Given the description of an element on the screen output the (x, y) to click on. 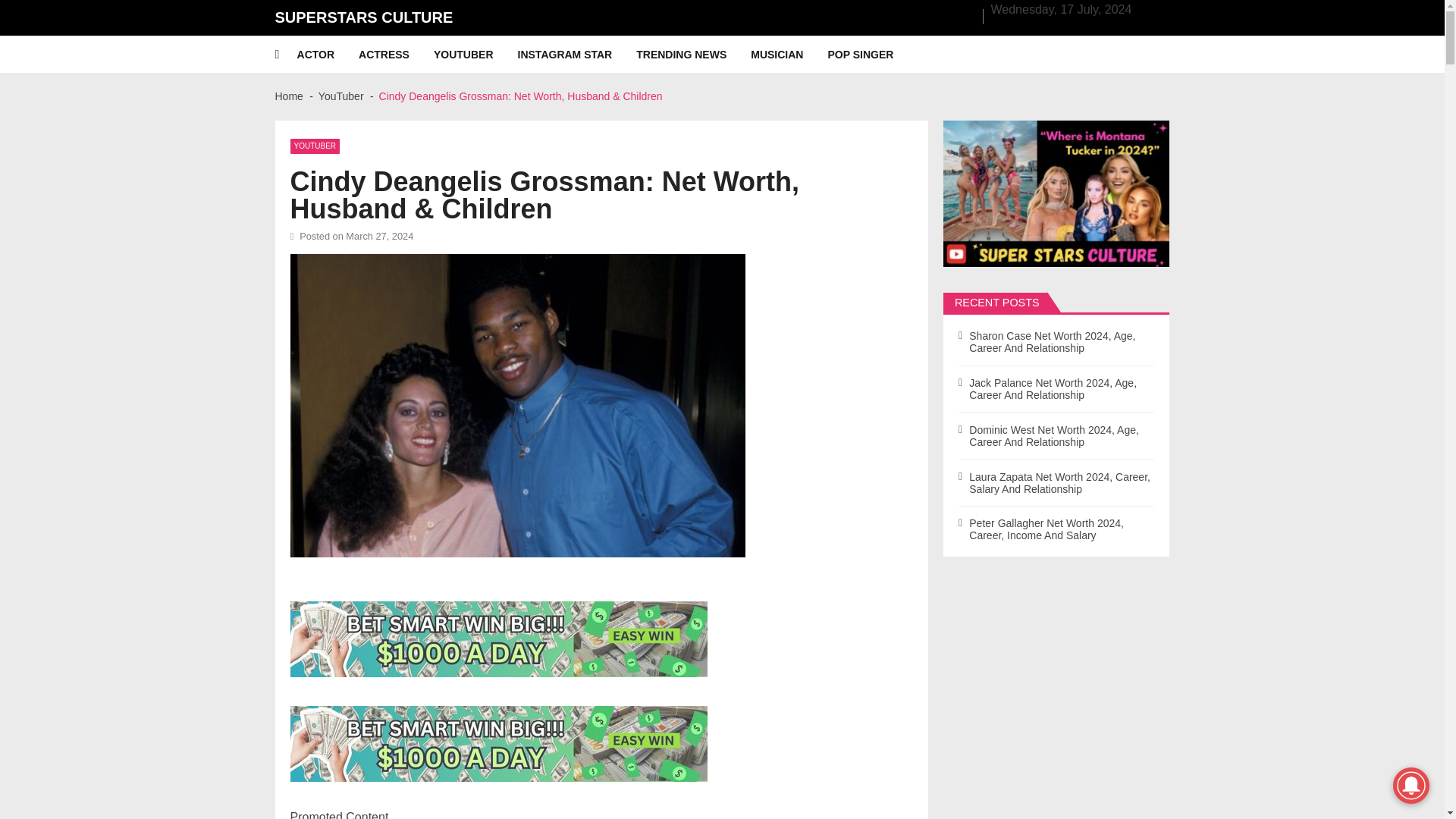
POP SINGER (872, 54)
YouTuber (341, 96)
TRENDING NEWS (693, 54)
MUSICIAN (789, 54)
ACTRESS (395, 54)
YOUTUBER (314, 145)
YOUTUBER (475, 54)
ACTOR (328, 54)
INSTAGRAM STAR (577, 54)
SUPERSTARS CULTURE (363, 17)
Home (288, 96)
